Given the description of an element on the screen output the (x, y) to click on. 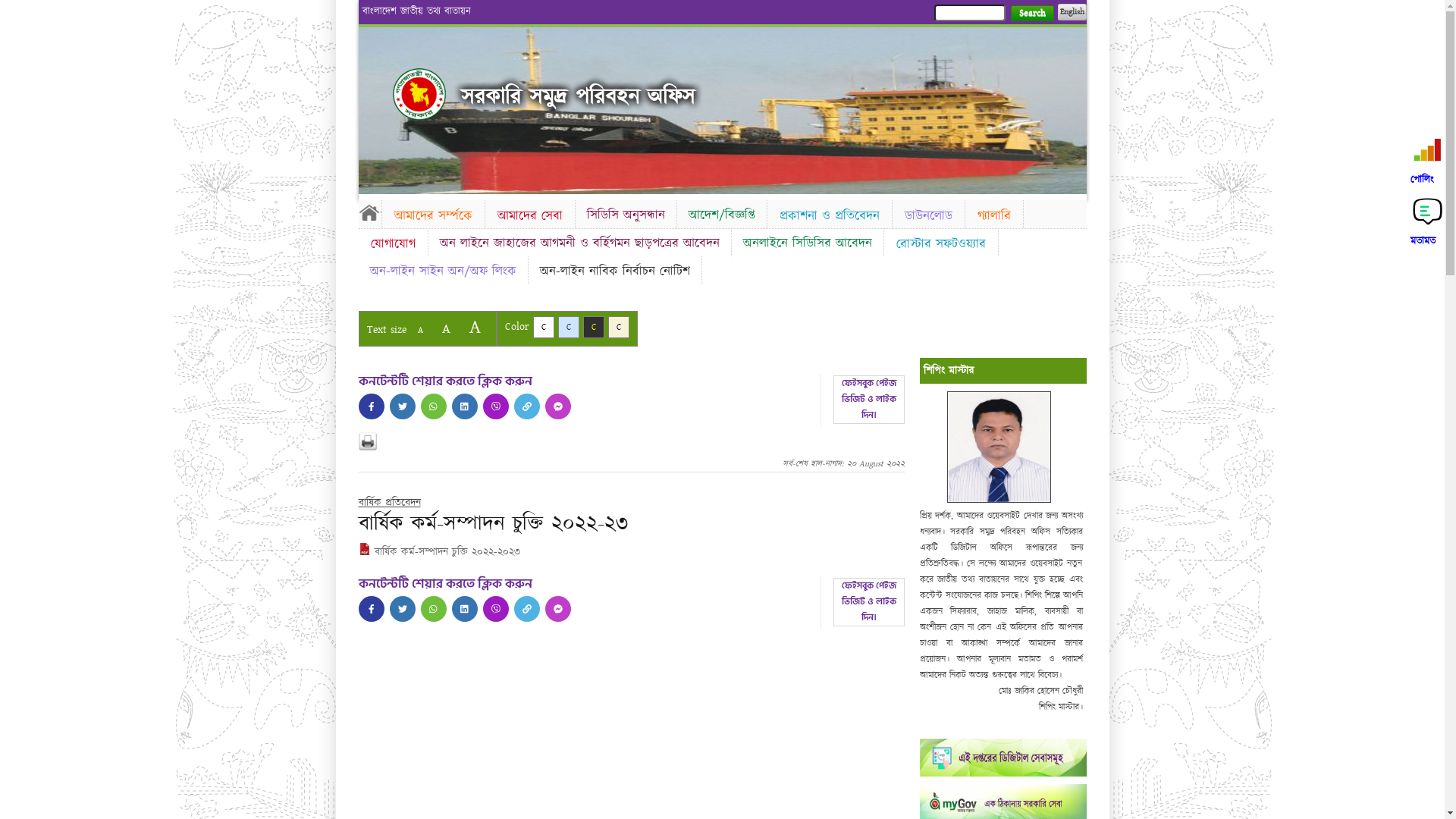
Home Element type: hover (418, 93)
English Element type: text (1071, 11)
C Element type: text (568, 327)
C Element type: text (592, 327)
A Element type: text (419, 330)
A Element type: text (474, 327)
A Element type: text (445, 328)
C Element type: text (618, 327)
Search Element type: text (1031, 13)
Home Element type: hover (368, 211)
C Element type: text (542, 327)
